Given the description of an element on the screen output the (x, y) to click on. 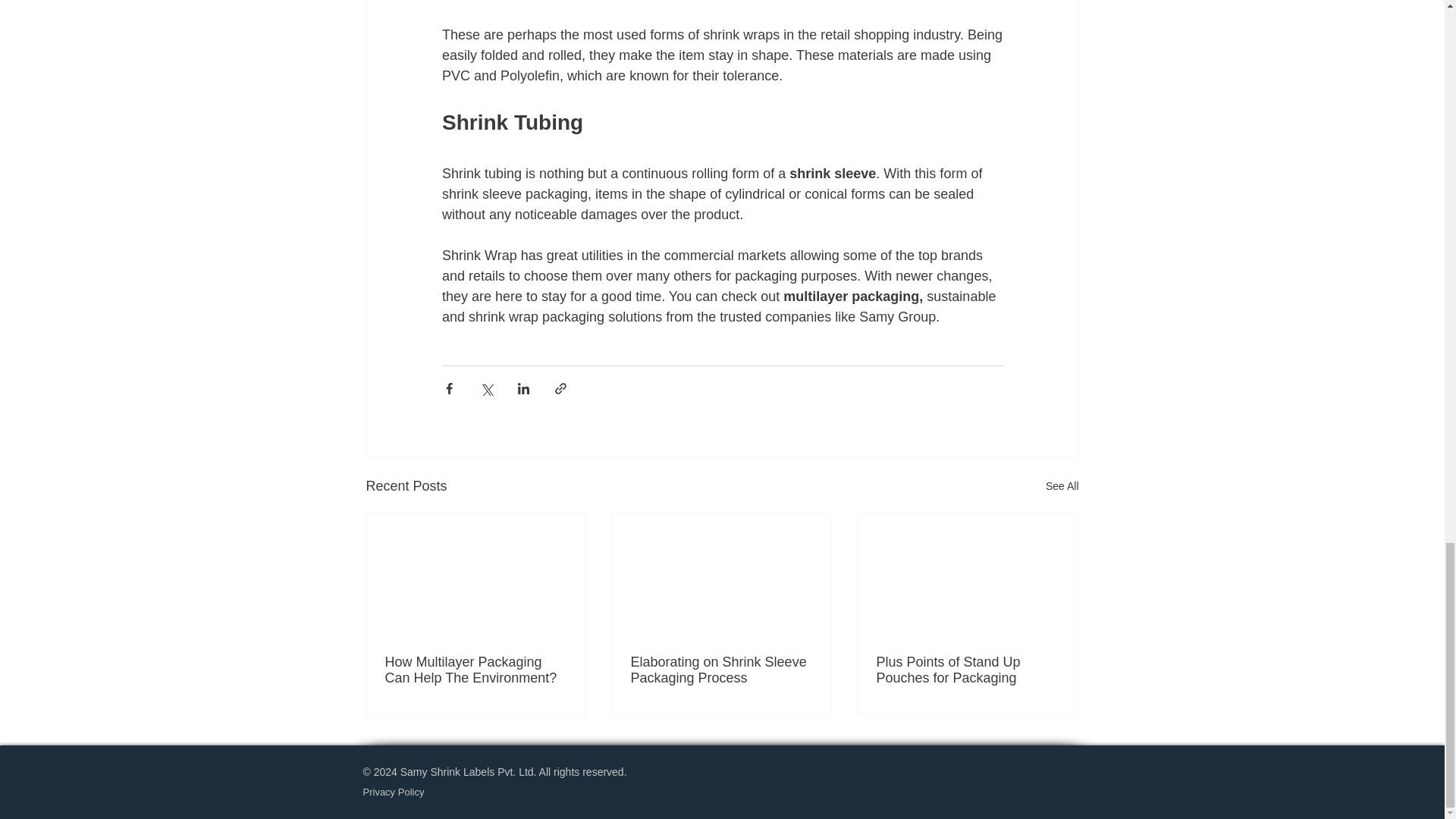
How Multilayer Packaging Can Help The Environment? (476, 670)
Privacy Policy (392, 791)
See All (1061, 486)
Plus Points of Stand Up Pouches for Packaging (967, 670)
Elaborating on Shrink Sleeve Packaging Process (721, 670)
